Given the description of an element on the screen output the (x, y) to click on. 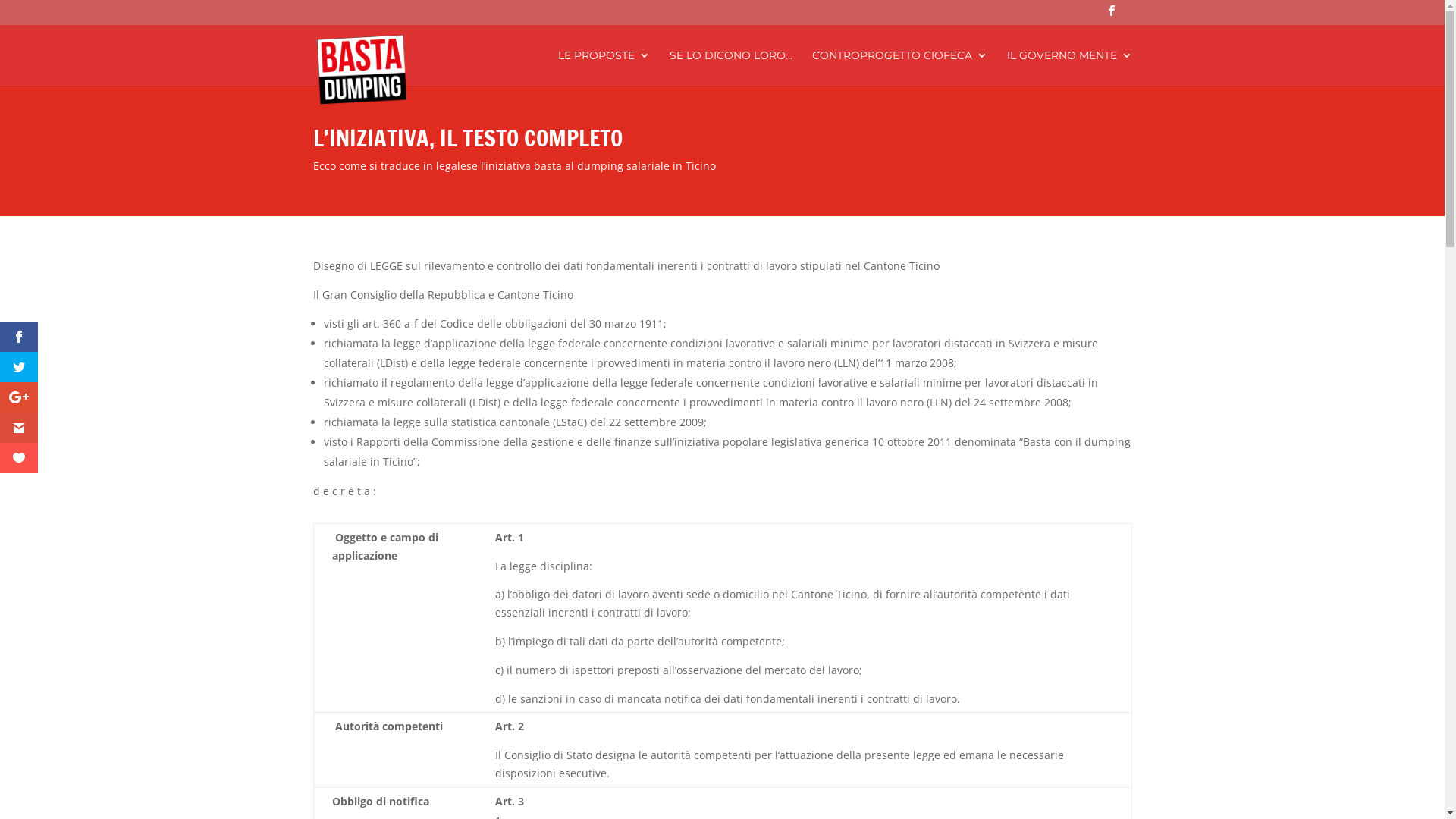
LE PROPOSTE Element type: text (603, 67)
CONTROPROGETTO CIOFECA Element type: text (898, 67)
IL GOVERNO MENTE Element type: text (1069, 67)
